Given the description of an element on the screen output the (x, y) to click on. 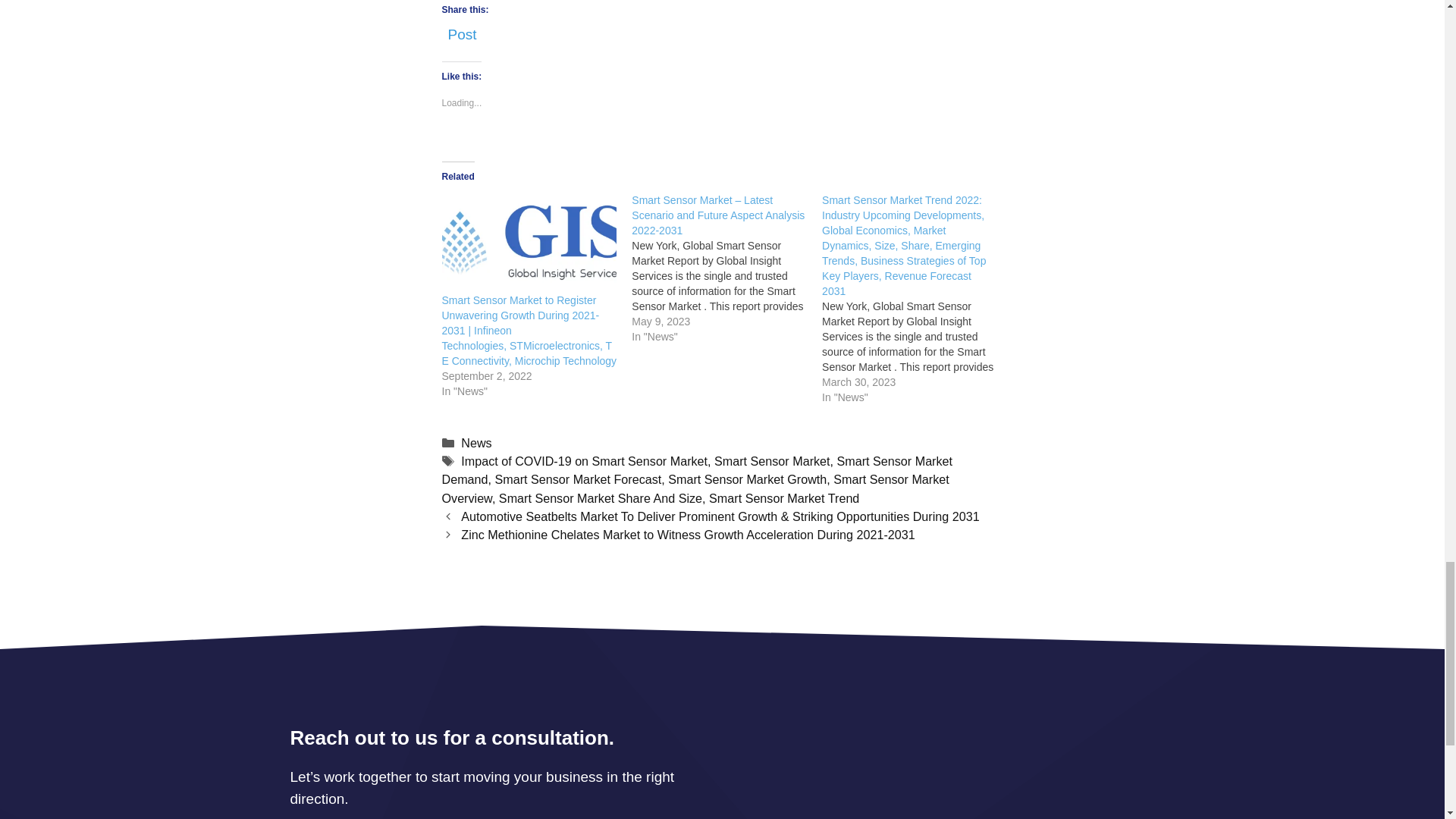
News (476, 442)
Smart Sensor Market Overview (695, 488)
Smart Sensor Market Share And Size (600, 498)
Post (461, 30)
Smart Sensor Market Forecast (578, 479)
Smart Sensor Market Trend (784, 498)
Smart Sensor Market (771, 460)
Smart Sensor Market Demand (696, 470)
Impact of COVID-19 on Smart Sensor Market (584, 460)
Smart Sensor Market Growth (747, 479)
